Given the description of an element on the screen output the (x, y) to click on. 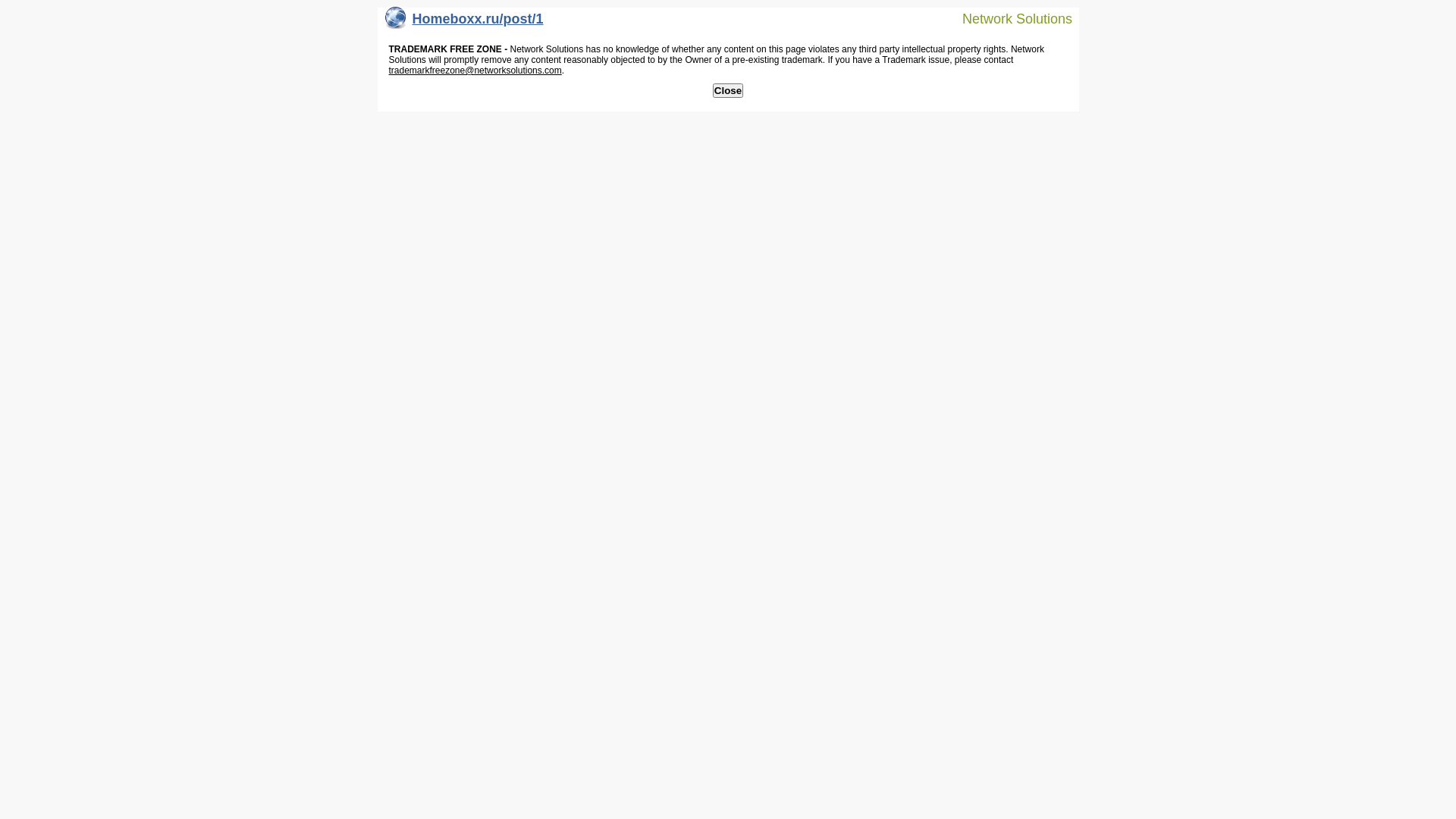
Network Solutions Element type: text (1007, 17)
Homeboxx.ru/post/1 Element type: text (464, 21)
trademarkfreezone@networksolutions.com Element type: text (474, 70)
Close Element type: text (727, 90)
